Given the description of an element on the screen output the (x, y) to click on. 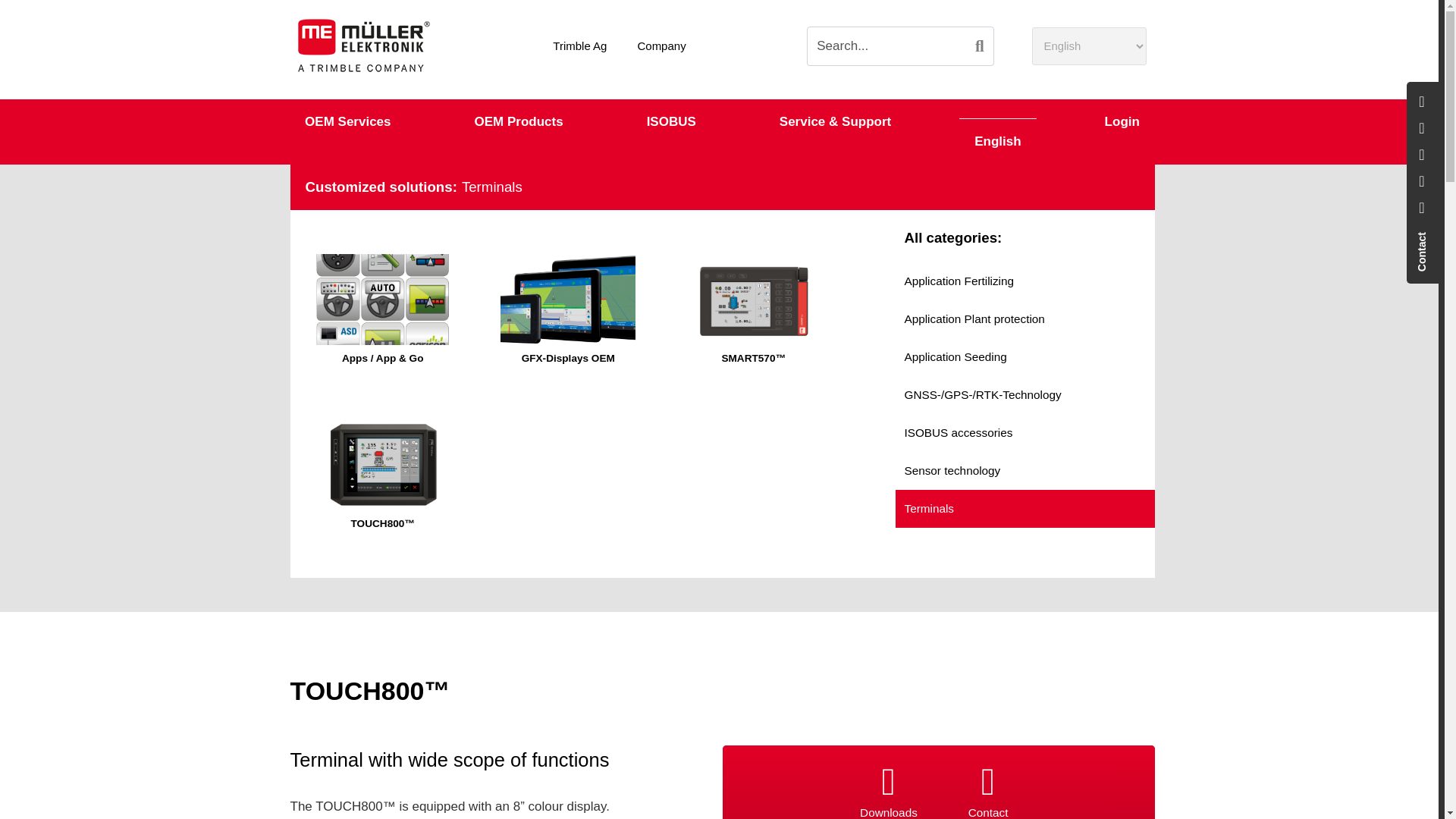
Company (660, 45)
Trimble Ag (579, 45)
English (997, 141)
Login (1121, 122)
GFX-Displays OEM (567, 310)
ISOBUS (671, 122)
OEM Products (519, 122)
OEM Services (347, 122)
